Given the description of an element on the screen output the (x, y) to click on. 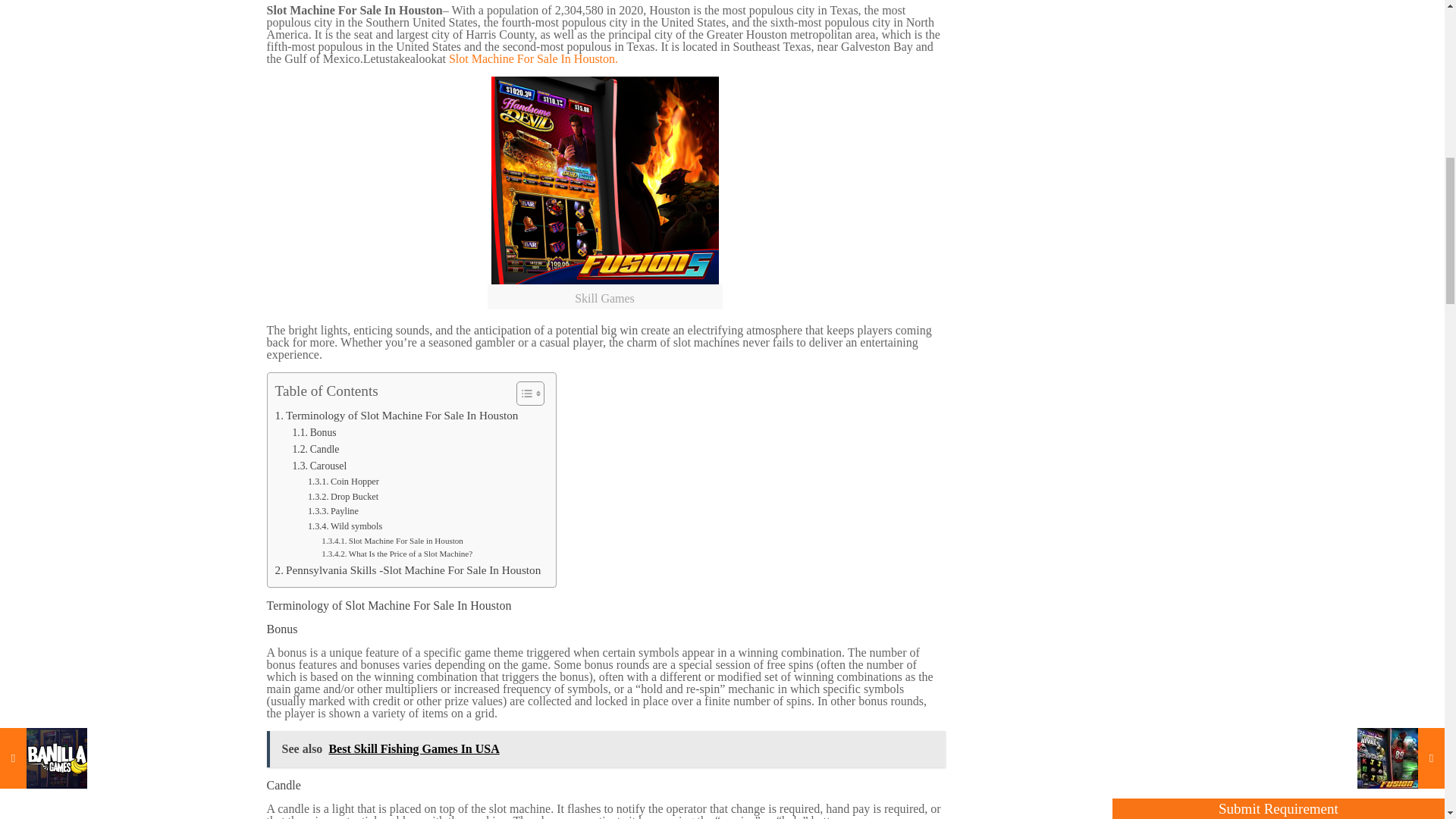
Carousel (319, 466)
Slot Machine For Sale In Houston (605, 180)
Candle (315, 449)
Terminology of Slot Machine For Sale In Houston (396, 415)
Bonus (314, 433)
Slot Machine For Sale in Houston (392, 540)
Coin Hopper (342, 482)
Slot Machine For Sale In Houston. (532, 58)
What Is the Price of a Slot Machine? (396, 554)
Candle (315, 449)
Wild symbols (344, 526)
Drop Bucket (342, 497)
Slot Machine For Sale In Houston (426, 604)
Wild symbols (344, 526)
Bonus (314, 433)
